Given the description of an element on the screen output the (x, y) to click on. 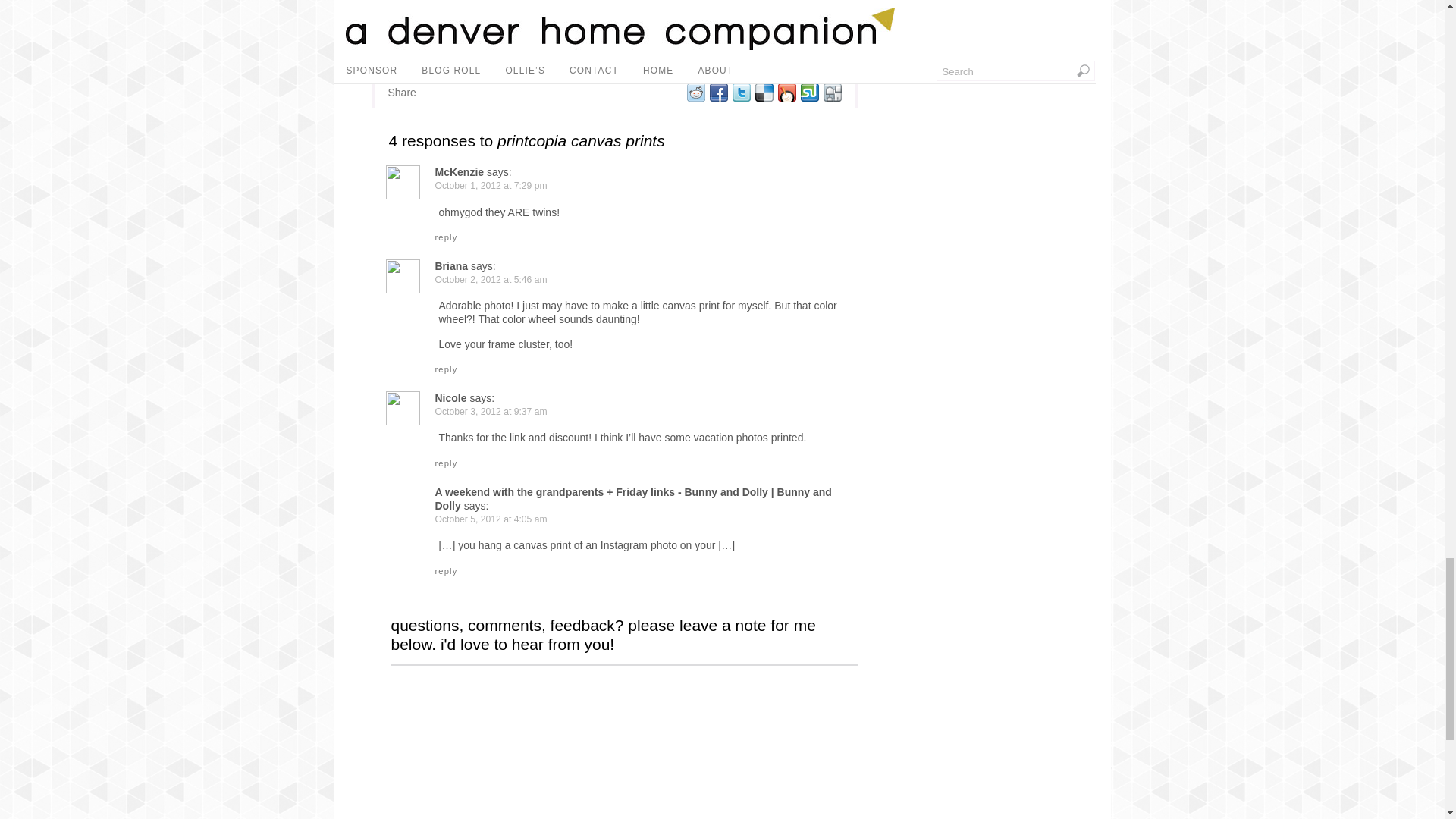
reply (446, 236)
October 1, 2012 at 7:29 pm (491, 185)
Share on Twitter (740, 92)
Share on Delicious (763, 92)
denver zoo (807, 43)
Share on Mixx (786, 92)
Share on Facebook (717, 92)
McKenzie (459, 172)
Share on Reddit (694, 92)
